Given the description of an element on the screen output the (x, y) to click on. 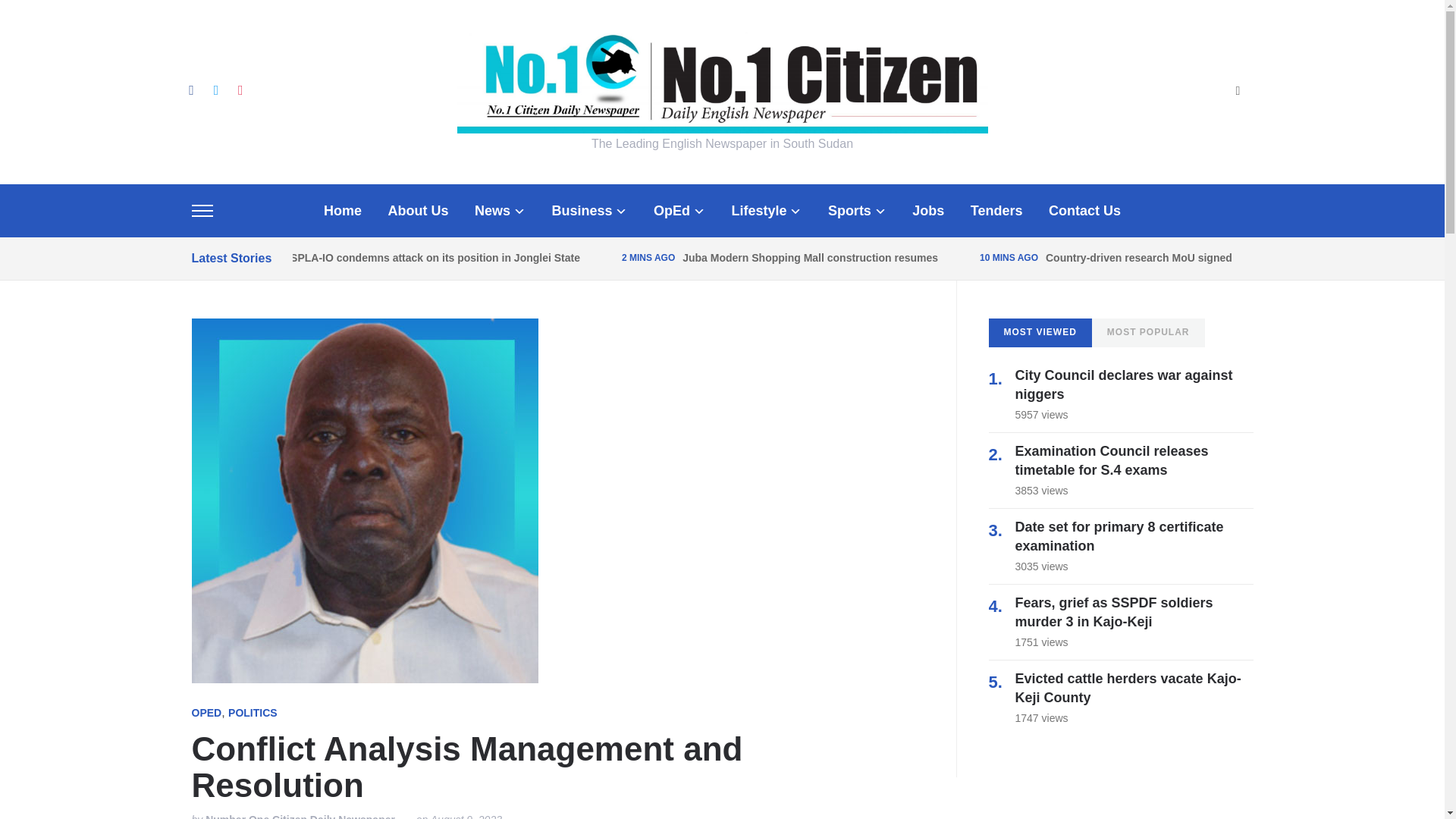
Follow Me (216, 88)
Juba Modern Shopping Mall construction resumes (809, 257)
instagram (239, 88)
Posts by Number One Citizen Daily Newspaper (299, 816)
SPLA-IO condemns attack on its position in Jonglei State (434, 257)
Search (1237, 91)
twitter (216, 88)
Friend me on Facebook (190, 88)
facebook (190, 88)
Country-driven research MoU signed (1138, 257)
